Given the description of an element on the screen output the (x, y) to click on. 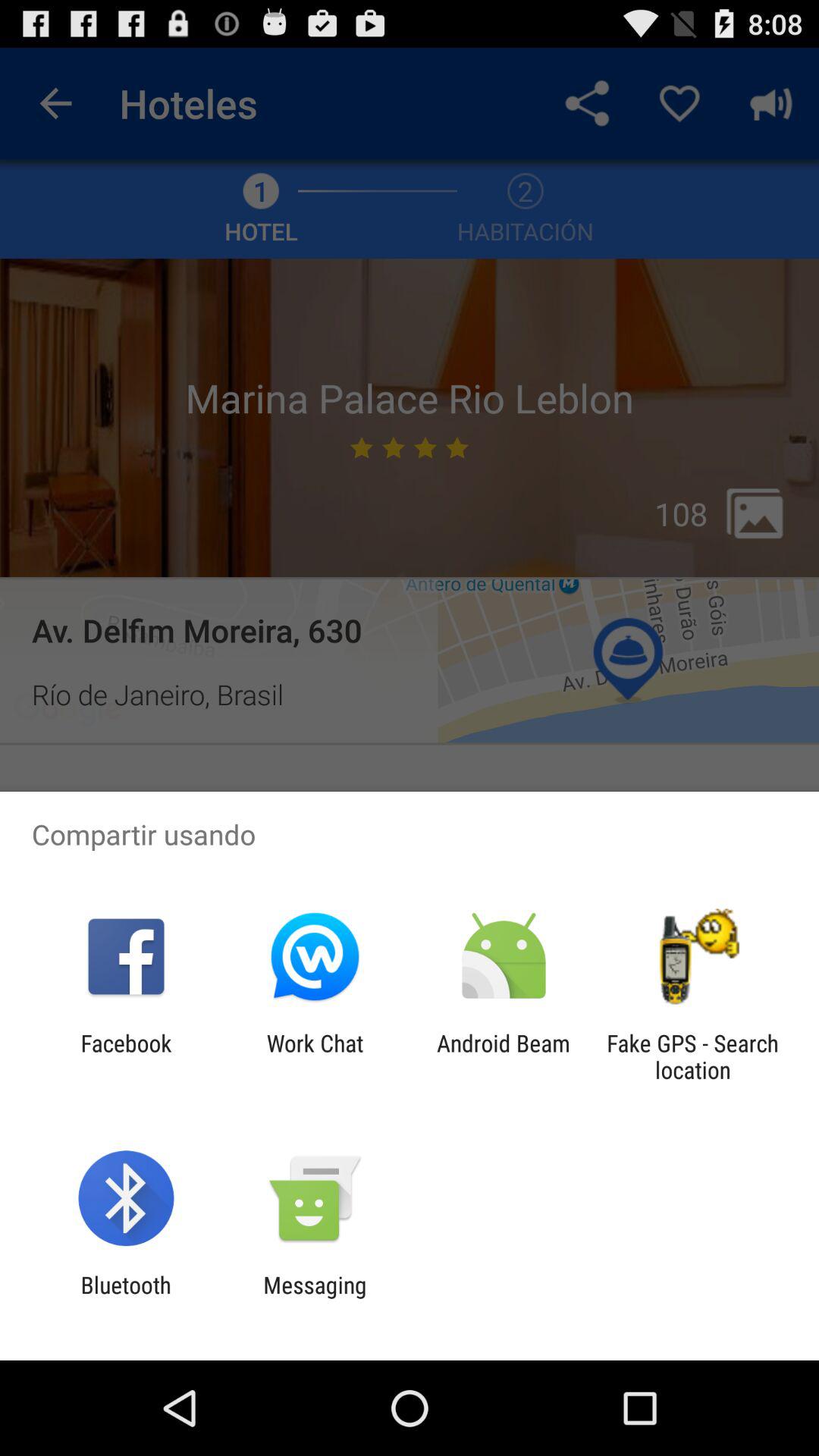
open app next to bluetooth icon (314, 1298)
